Given the description of an element on the screen output the (x, y) to click on. 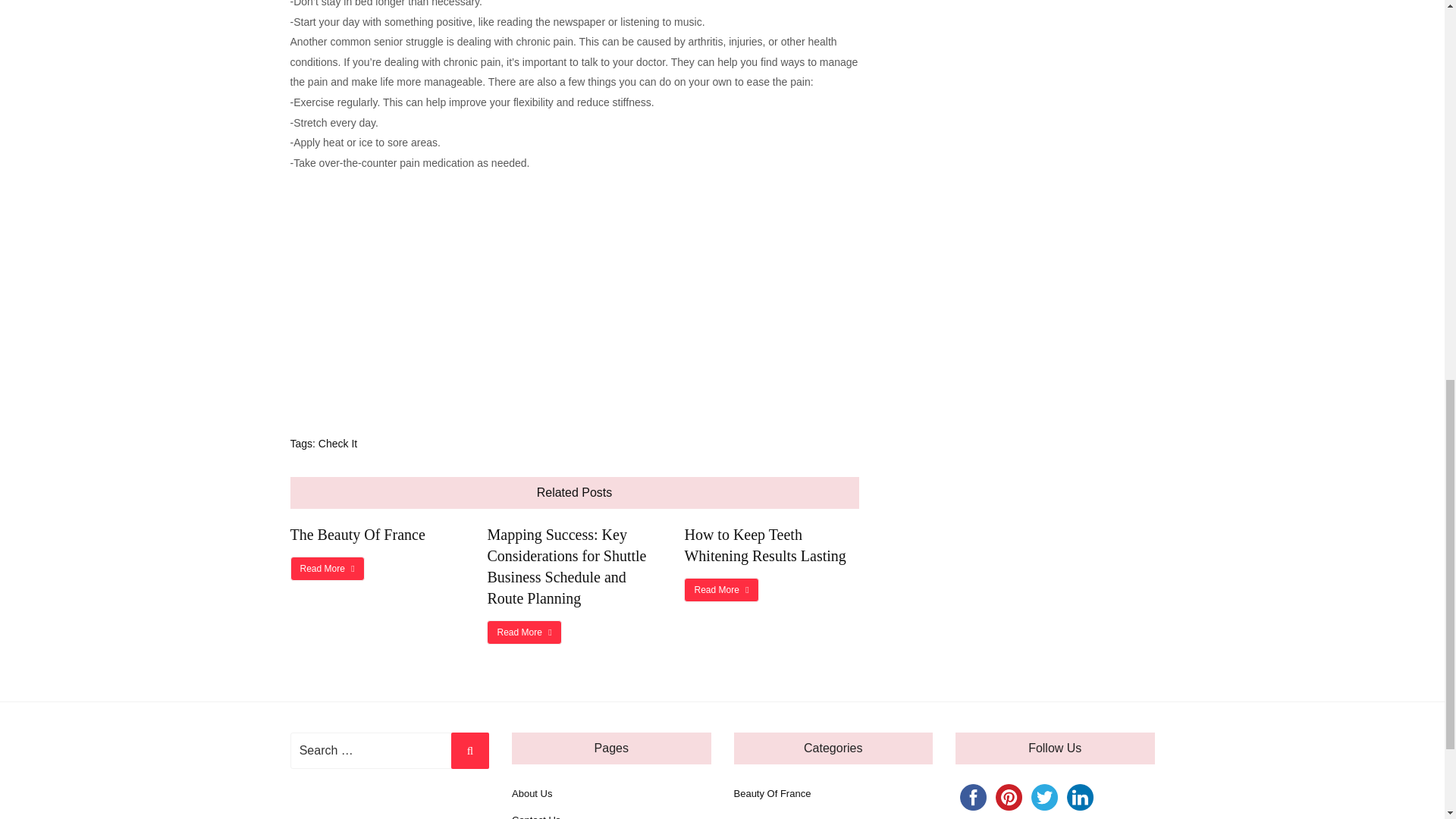
Read More (721, 589)
Read More (523, 631)
YouTube video player (501, 291)
Facebook (973, 796)
YouTube video player (1017, 53)
Read More (326, 568)
Check It (337, 443)
Twitter (1044, 796)
Pinterest (1008, 796)
How to Keep Teeth Whitening Results Lasting (764, 545)
